Given the description of an element on the screen output the (x, y) to click on. 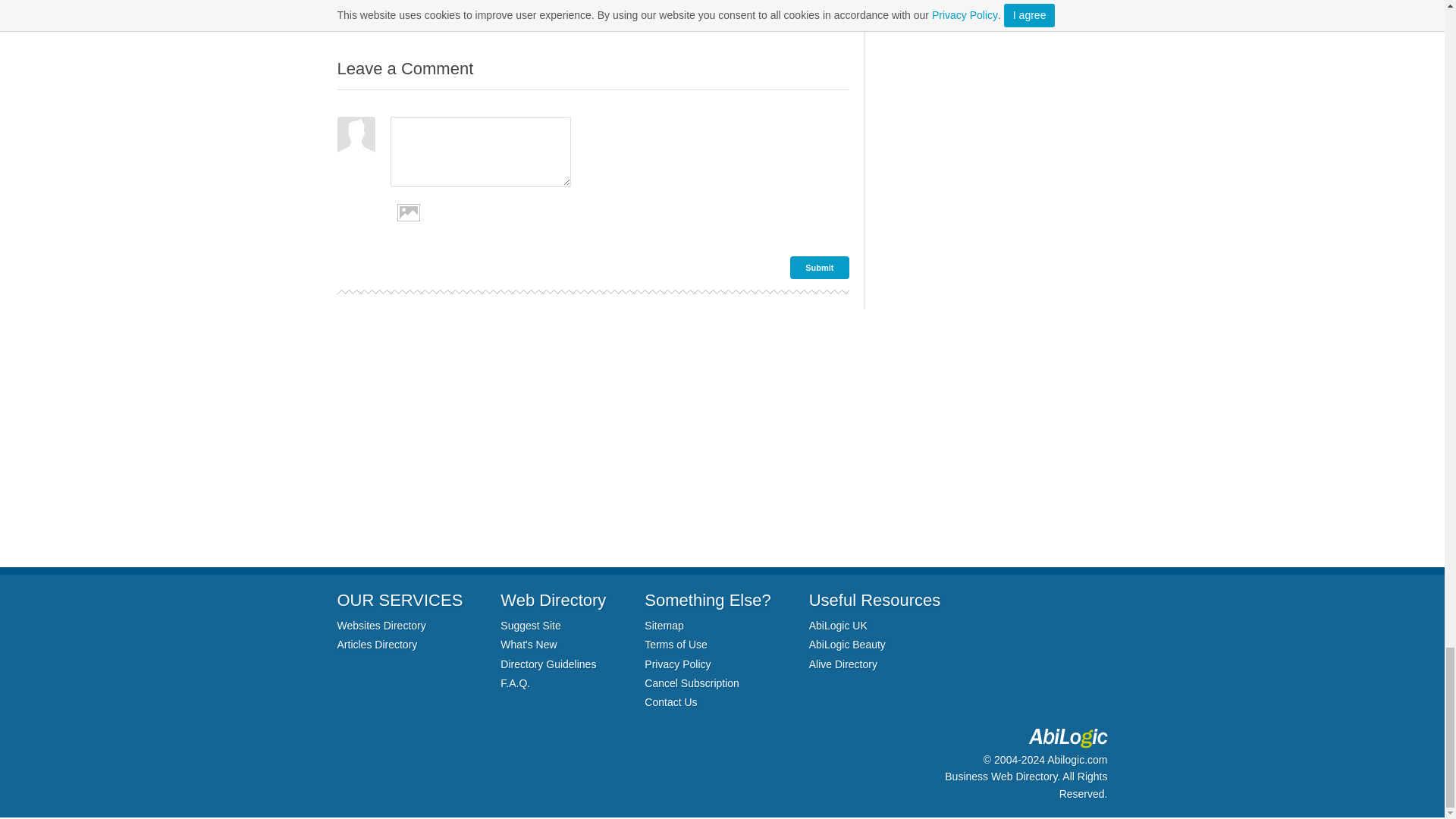
Submit (819, 267)
Websites Directory (380, 625)
Suggest Site (530, 625)
Submit (819, 267)
Articles Directory (376, 644)
